Given the description of an element on the screen output the (x, y) to click on. 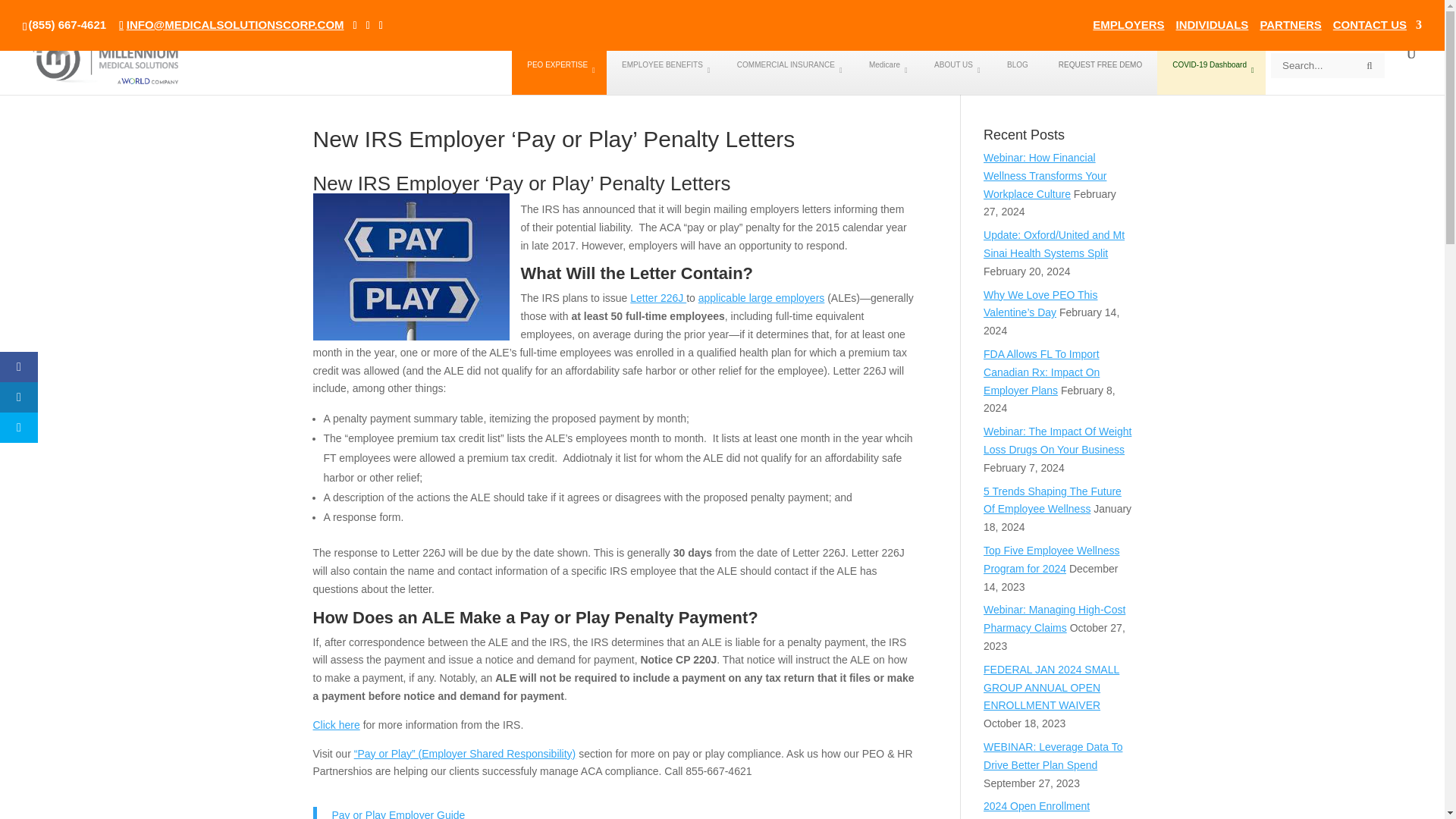
CONTACT US (1377, 28)
EMPLOYERS (1128, 28)
EMPLOYEE BENEFITS (664, 71)
INDIVIDUALS (1212, 28)
PEO EXPERTISE (559, 71)
PARTNERS (1289, 28)
